Given the description of an element on the screen output the (x, y) to click on. 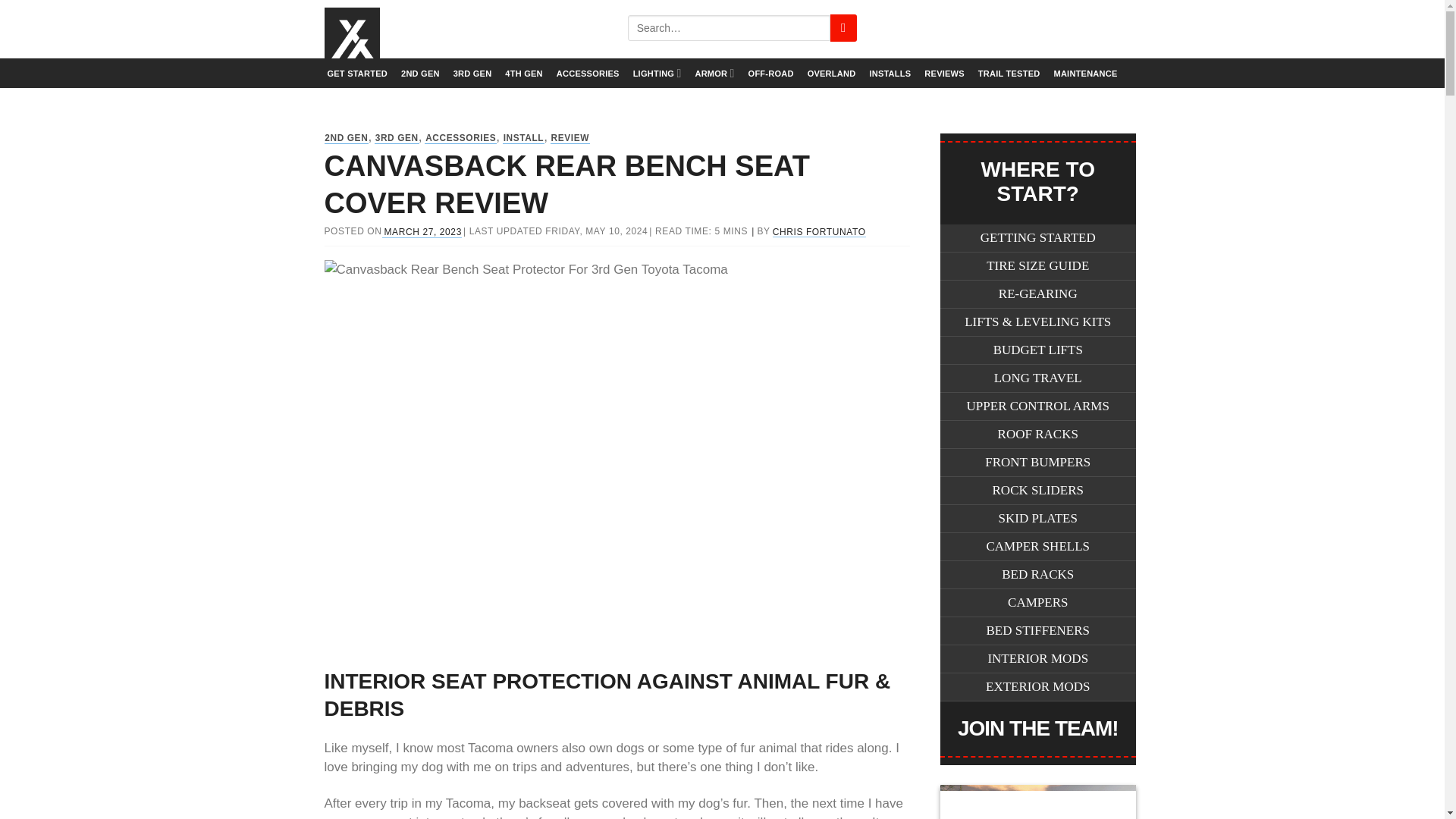
3RD GEN (472, 73)
MAINTENANCE (1084, 73)
INSTALLS (890, 73)
ACCESSORIES (588, 73)
3RD GEN (396, 137)
TRAIL TESTED (1009, 73)
OFF-ROAD (770, 73)
CHRIS FORTUNATO (819, 232)
GET STARTED (356, 73)
ARMOR (713, 72)
